Given the description of an element on the screen output the (x, y) to click on. 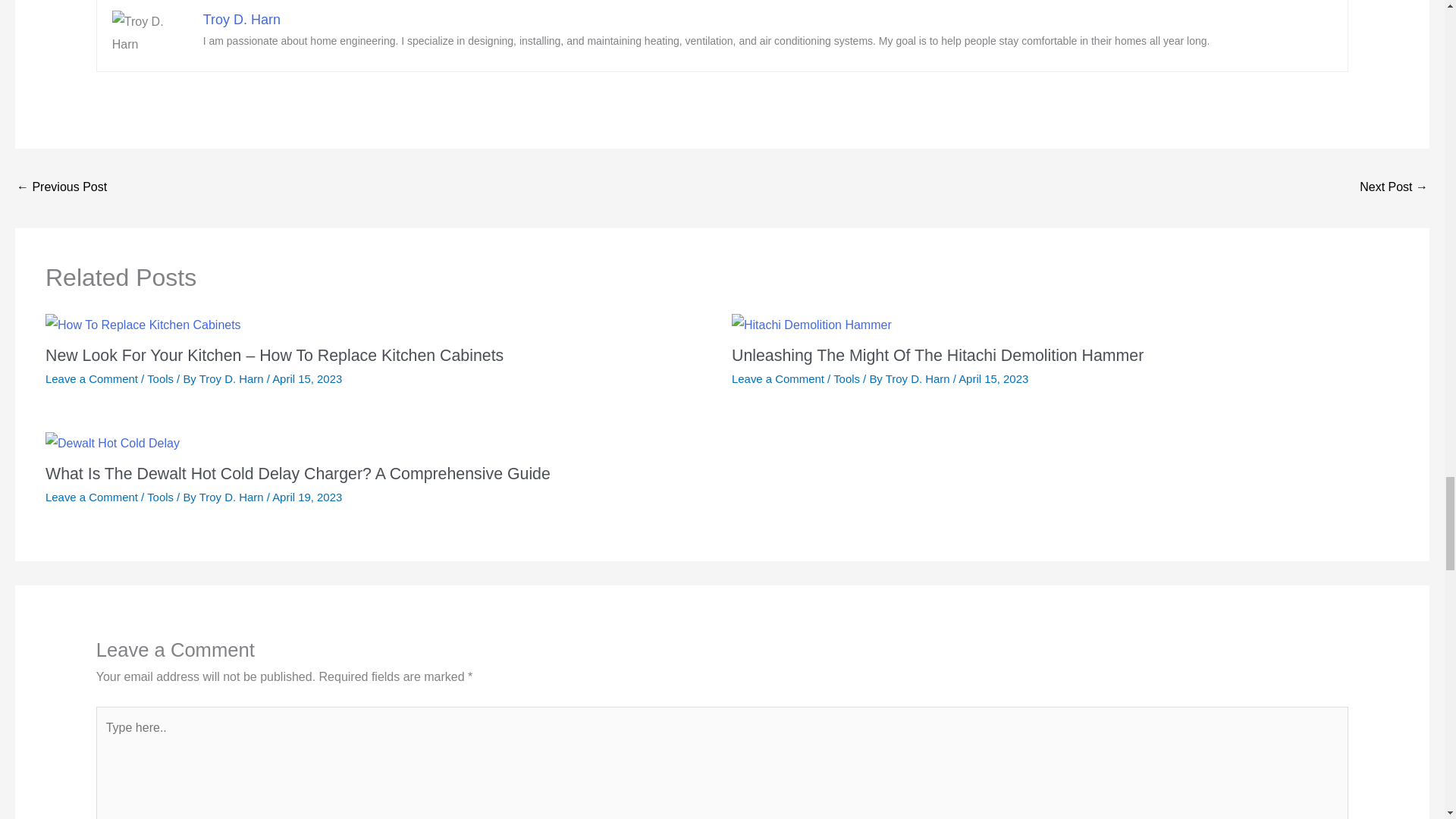
View all posts by Troy D. Harn (232, 496)
Tools (846, 378)
View all posts by Troy D. Harn (232, 378)
Troy D. Harn (919, 378)
How To Install A Backsplash Like A Pro - A Beginner's Guide (61, 188)
Tools (160, 378)
Troy D. Harn (232, 378)
Unleashing The Might Of The Hitachi Demolition Hammer (937, 355)
Leave a Comment (91, 378)
View all posts by Troy D. Harn (919, 378)
Leave a Comment (778, 378)
Troy D. Harn (242, 19)
